Given the description of an element on the screen output the (x, y) to click on. 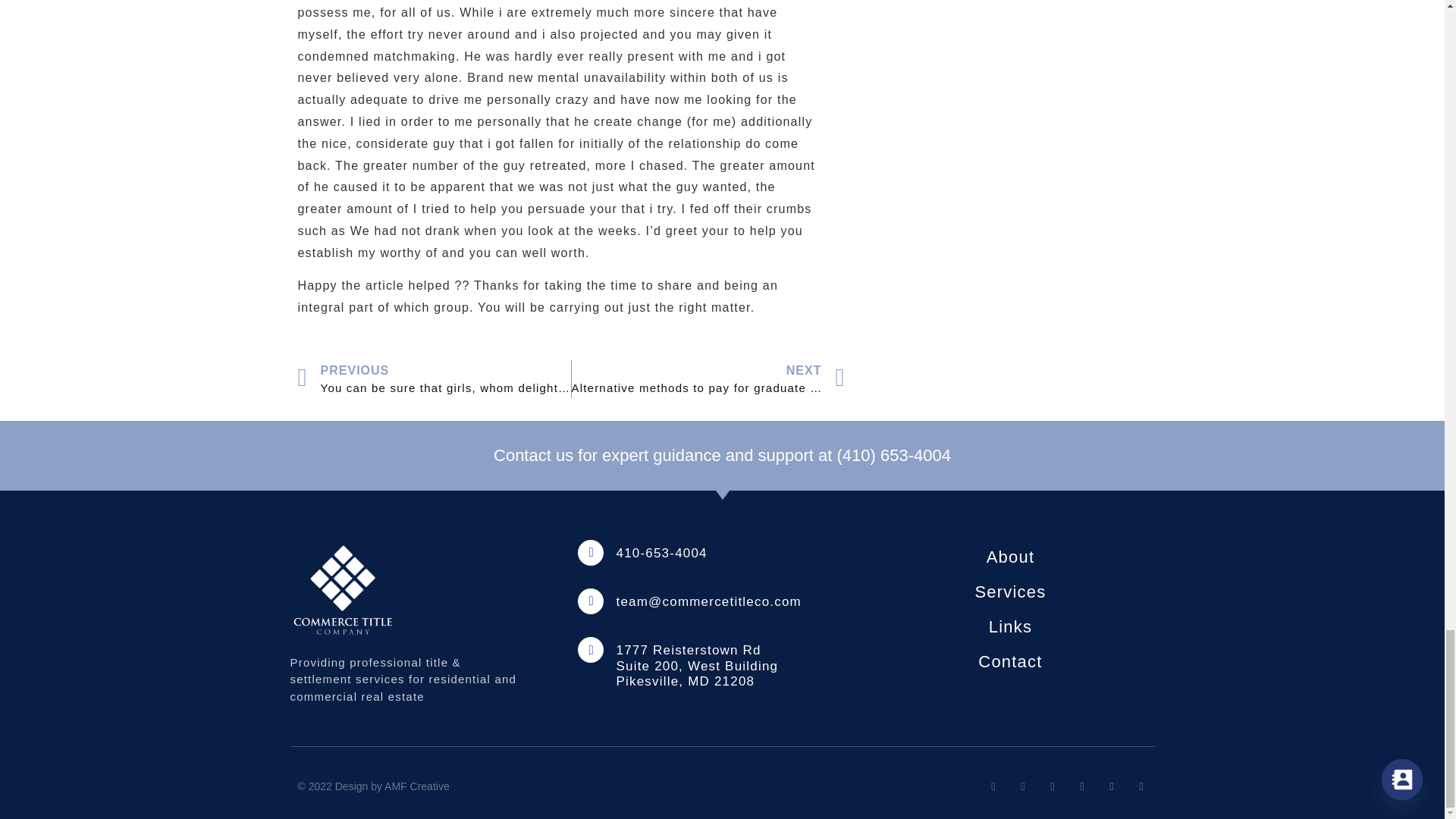
Links (1010, 626)
410-653-4004 (660, 553)
Contact (1010, 661)
About (1010, 556)
Services (1010, 591)
